Given the description of an element on the screen output the (x, y) to click on. 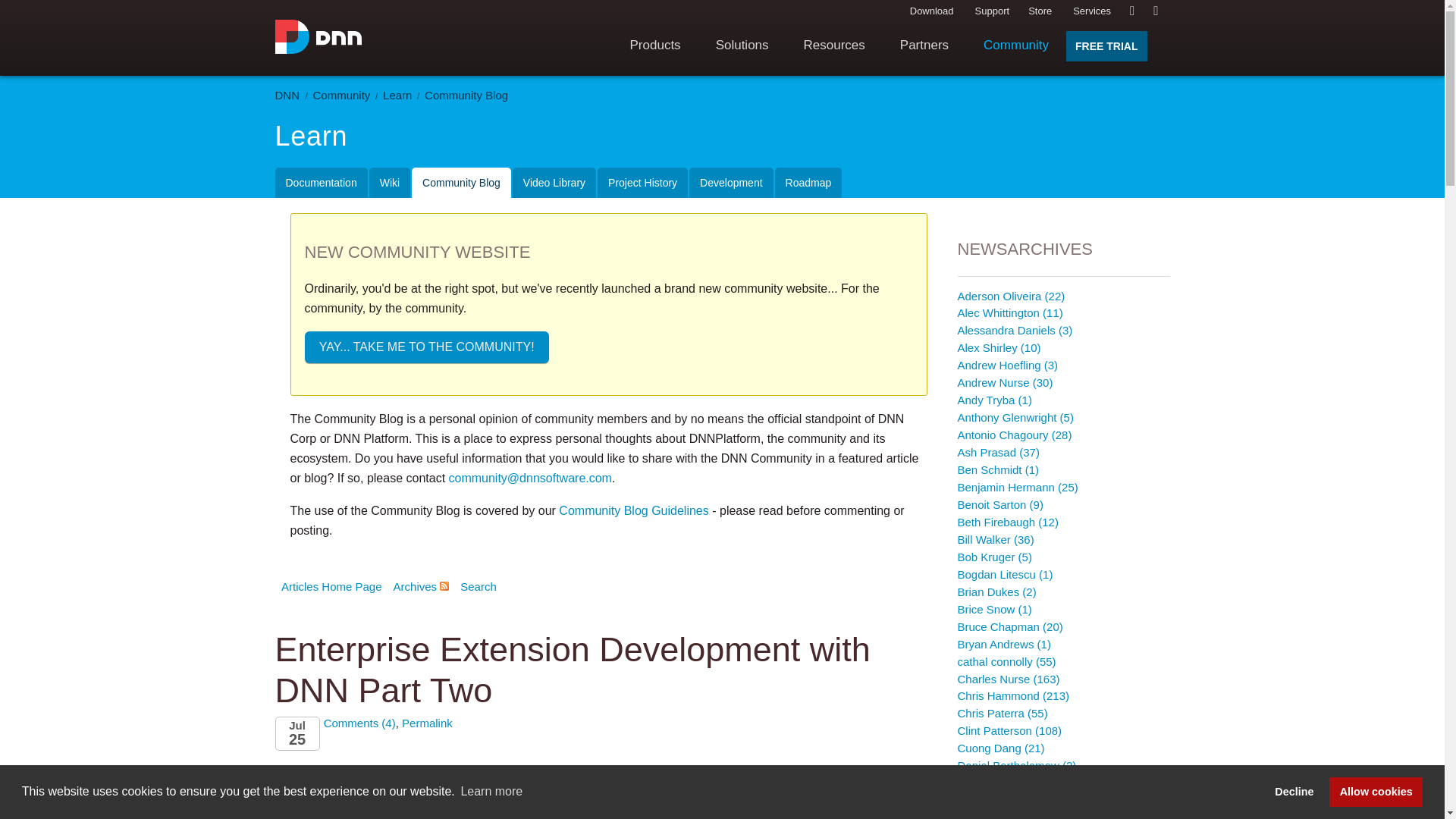
Learn more (491, 791)
Decline (1294, 791)
Allow cookies (1375, 791)
